Given the description of an element on the screen output the (x, y) to click on. 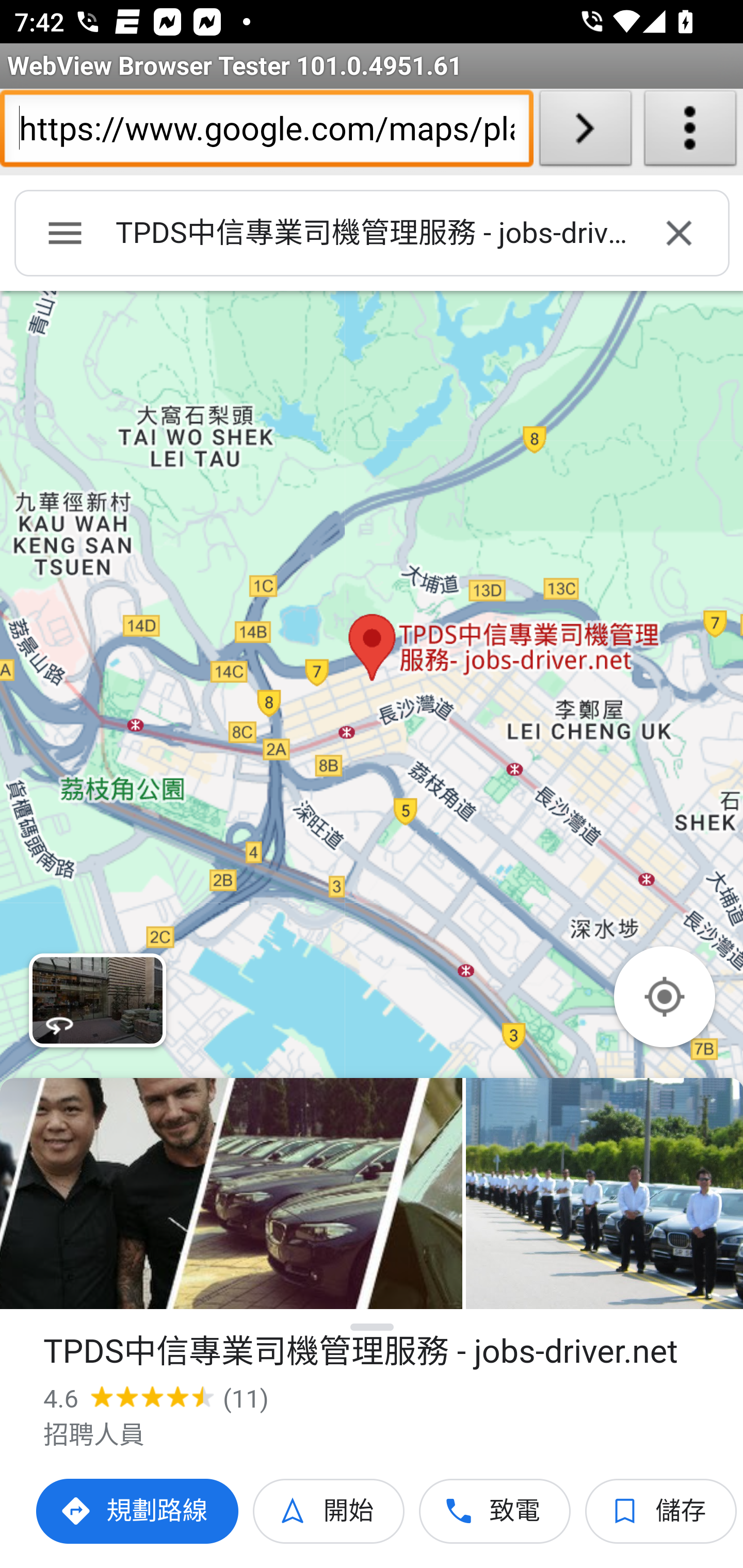
Load URL (585, 132)
About WebView (690, 132)
第 1 張相片 (共 8 張) (231, 1193)
第 2 張相片 (共 8 張) (604, 1193)
顯示詳細資料 (372, 1327)
前往TPDS中信專業司機管理服務 - jobs-driver.net的路線 (137, 1511)
開始 (329, 1511)
致電「TPDS中信專業司機管理服務 - jobs-driver.net」  致電 (495, 1511)
將「TPDS中信專業司機管理服務 - jobs-driver.net」儲存至清單中 (661, 1511)
